Given the description of an element on the screen output the (x, y) to click on. 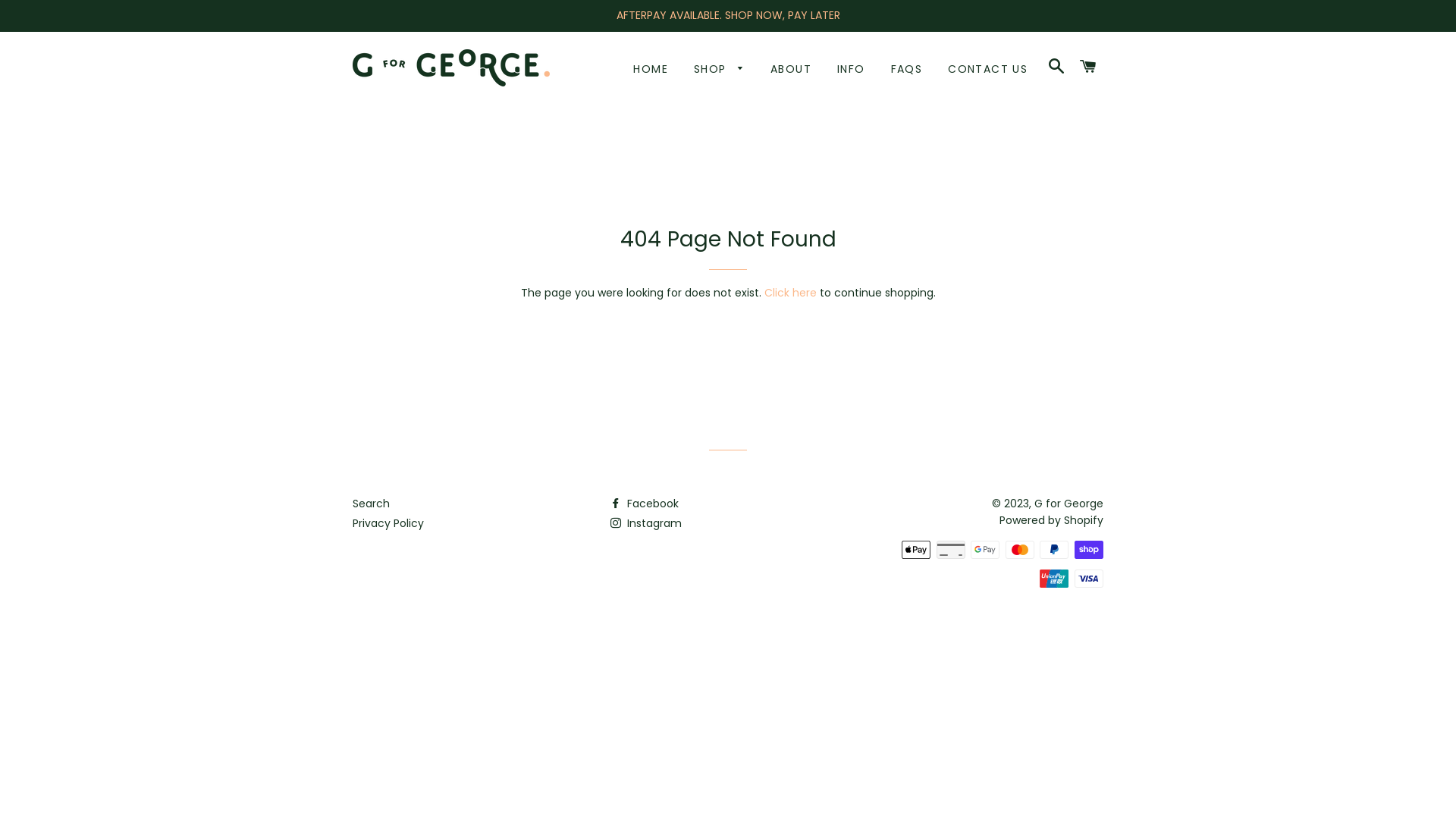
Instagram Element type: text (645, 522)
Facebook Element type: text (644, 503)
SEARCH Element type: text (1055, 67)
Click here Element type: text (790, 292)
ABOUT Element type: text (790, 69)
Search Element type: text (370, 503)
G for George Element type: text (1068, 503)
CART Element type: text (1088, 67)
SHOP Element type: text (719, 69)
HOME Element type: text (650, 69)
FAQS Element type: text (906, 69)
CONTACT US Element type: text (987, 69)
INFO Element type: text (850, 69)
Powered by Shopify Element type: text (1051, 519)
Privacy Policy Element type: text (387, 522)
